Given the description of an element on the screen output the (x, y) to click on. 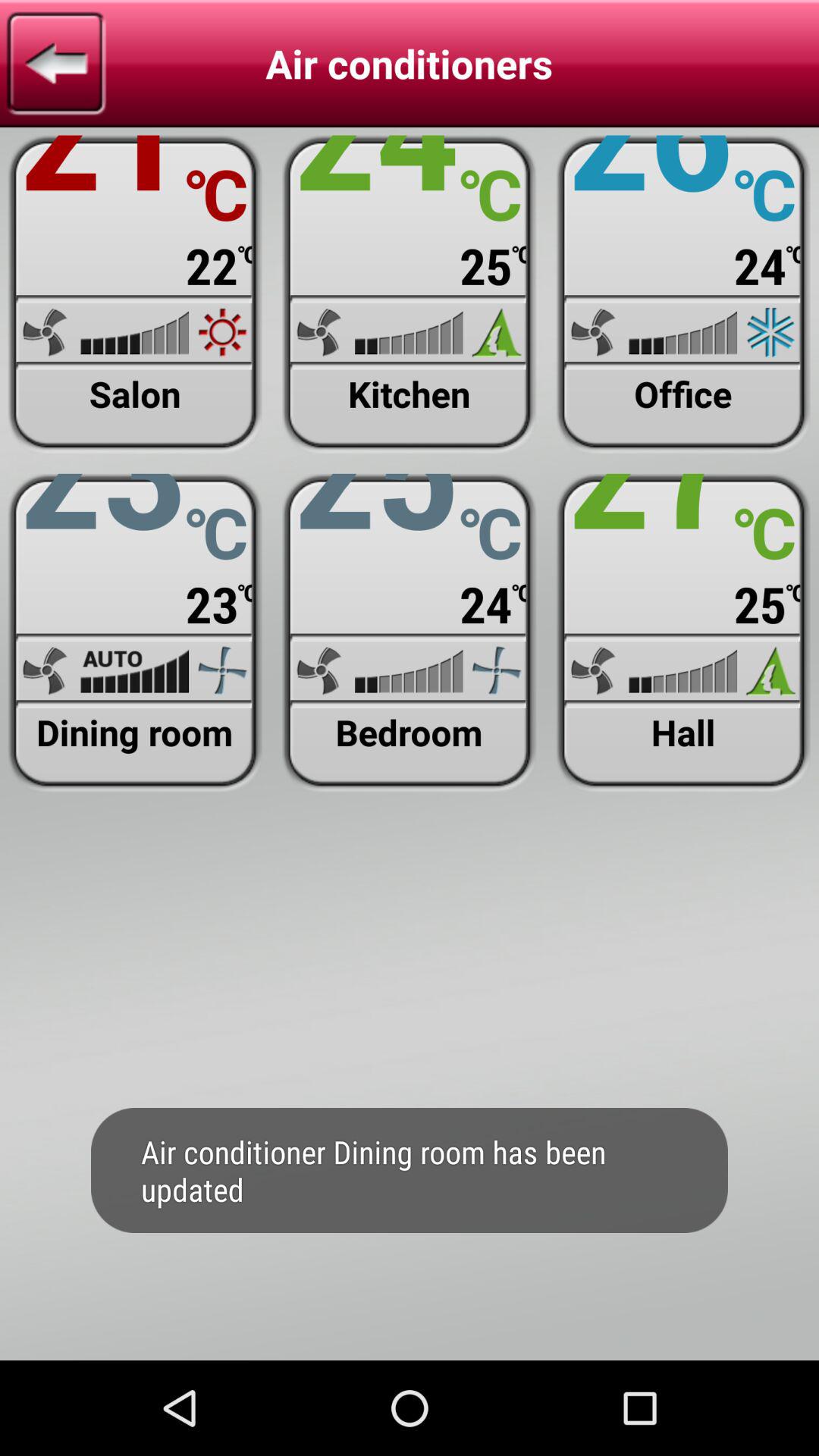
select hall air conditioner (683, 632)
